Given the description of an element on the screen output the (x, y) to click on. 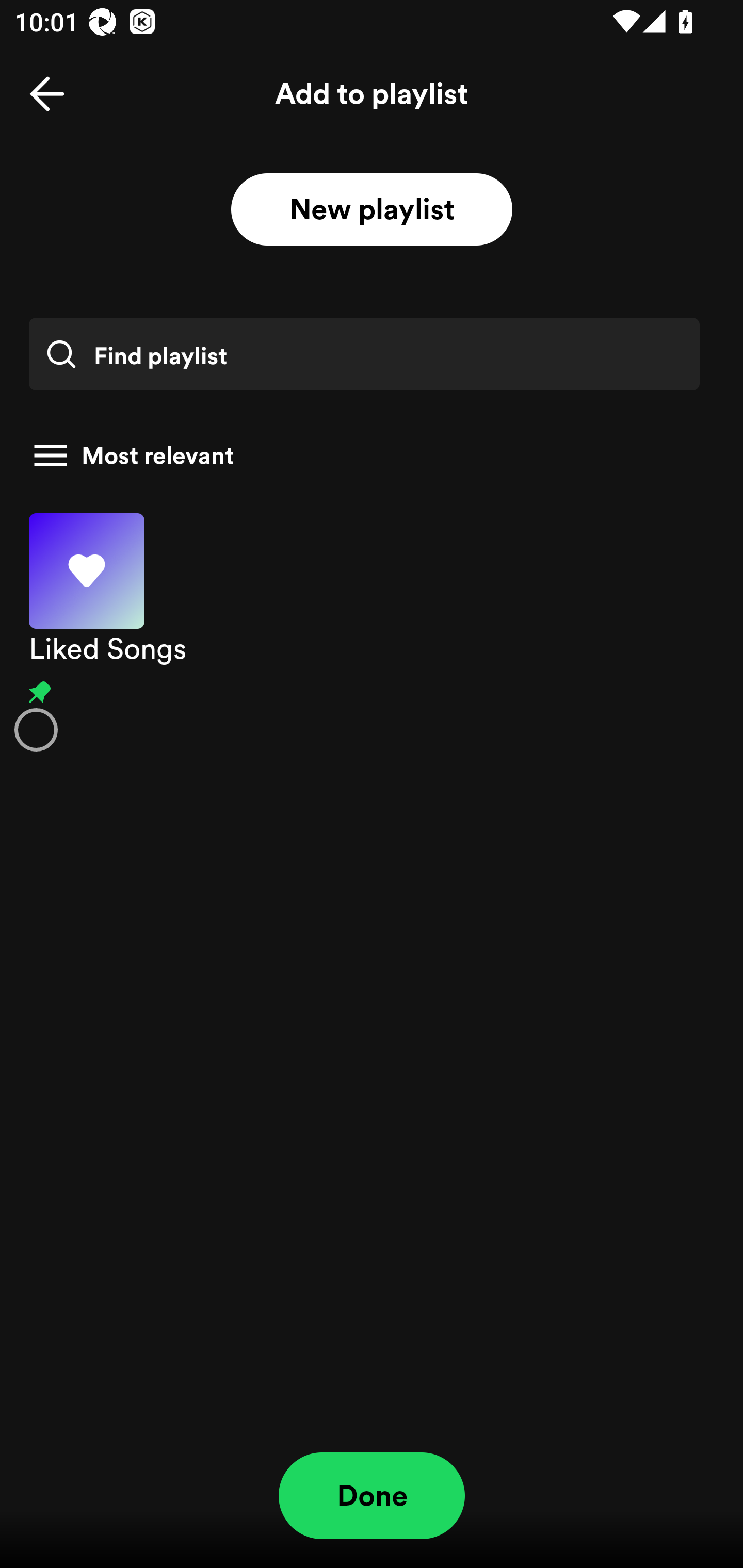
Back (46, 93)
New playlist (371, 210)
Find playlist (363, 354)
Most relevant (363, 455)
Liked Songs Pinned (371, 631)
Done (371, 1495)
